Given the description of an element on the screen output the (x, y) to click on. 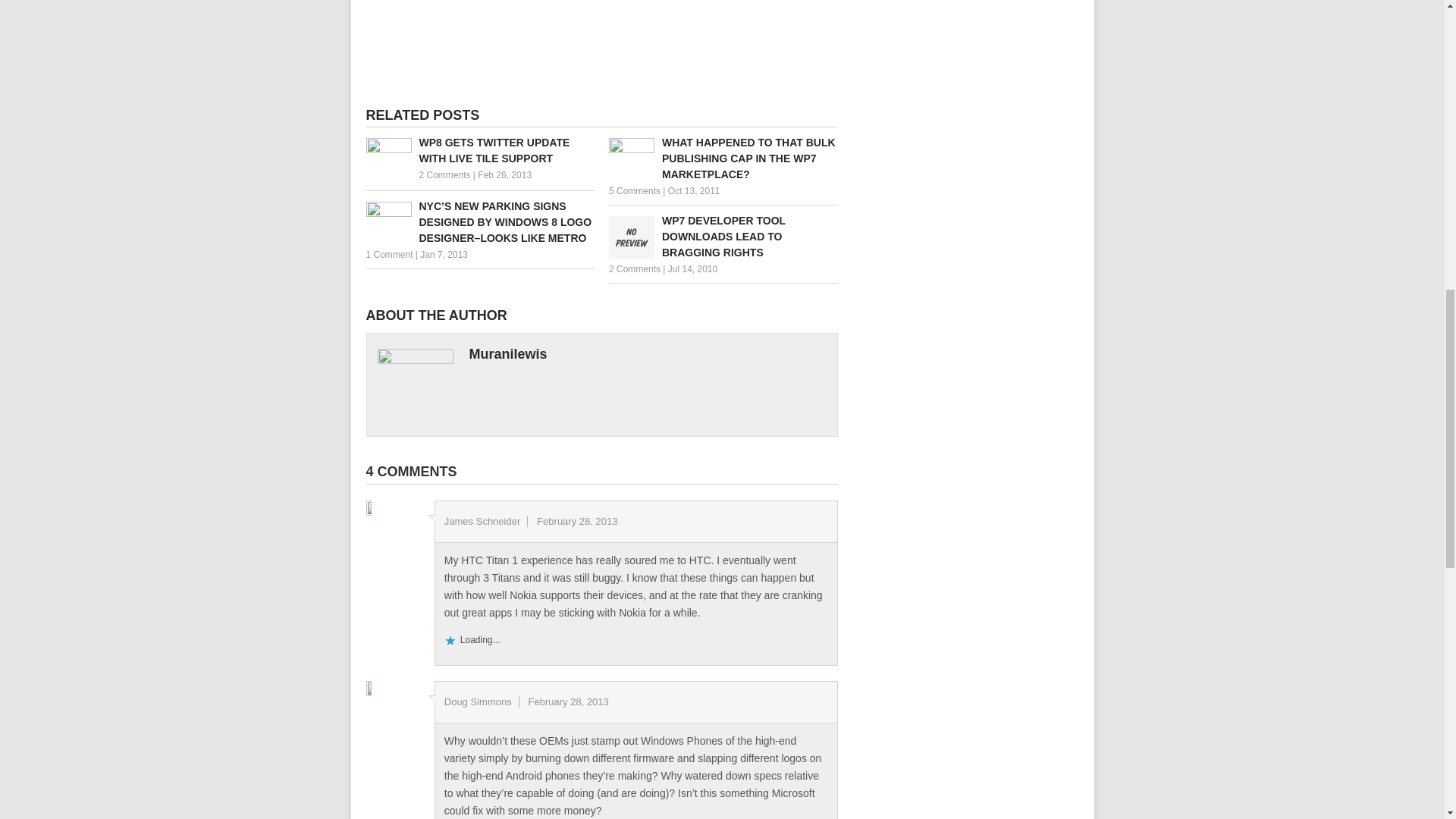
WP7 DEVELOPER TOOL DOWNLOADS LEAD TO BRAGGING RIGHTS (723, 236)
WP8 GETS TWITTER UPDATE WITH LIVE TILE SUPPORT (479, 151)
James Schneider (481, 521)
2 Comments (444, 174)
5 Comments (634, 190)
WP8 Gets Twitter Update With Live Tile Support (479, 151)
2 Comments (634, 268)
1 Comment (388, 254)
